Given the description of an element on the screen output the (x, y) to click on. 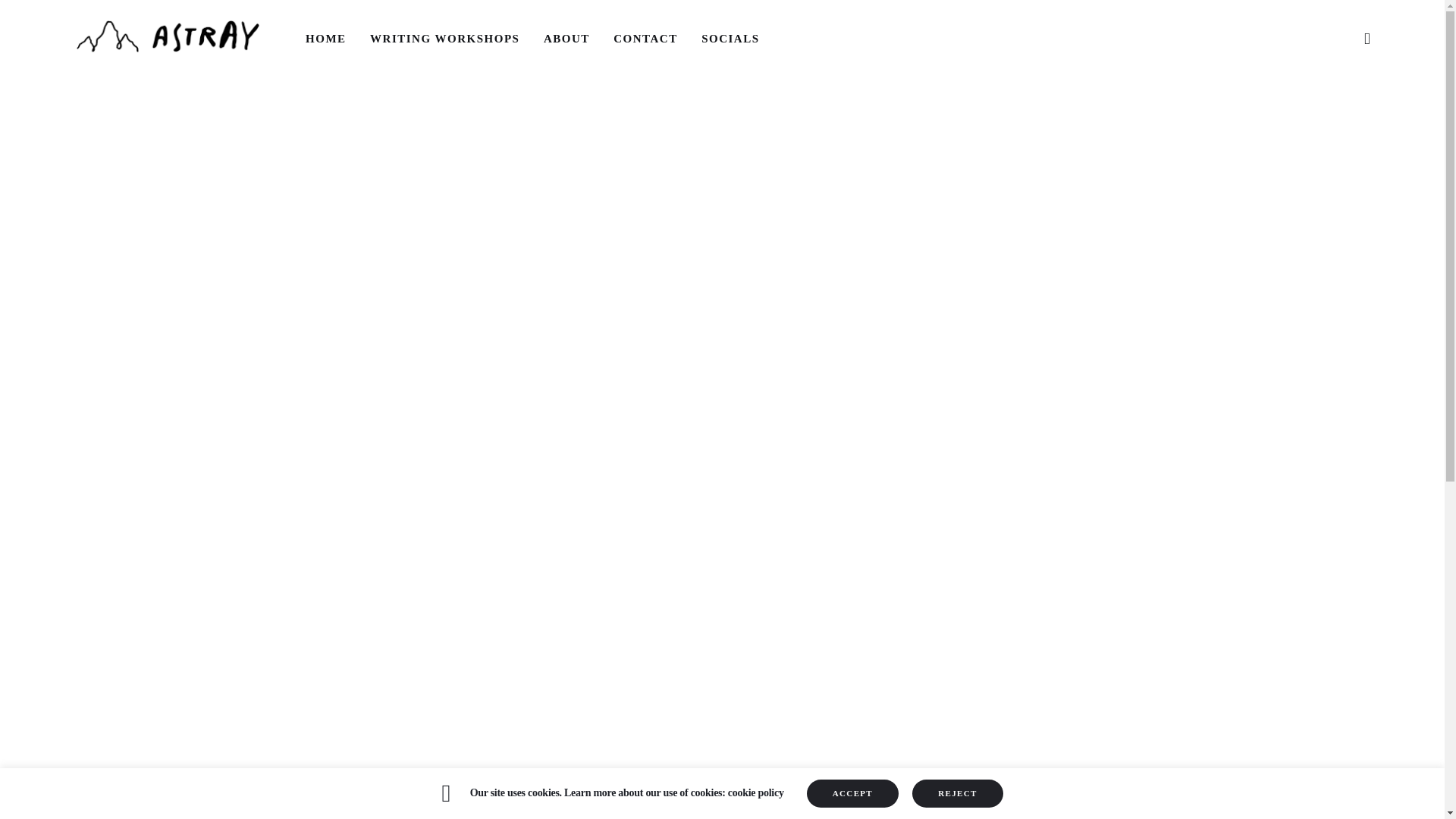
SOCIALS Element type: text (730, 38)
CONTACT Element type: text (646, 38)
HOME Element type: text (325, 38)
WRITING WORKSHOPS Element type: text (444, 38)
ACCEPT Element type: text (852, 793)
REJECT Element type: text (957, 793)
ABOUT Element type: text (566, 38)
